Given the description of an element on the screen output the (x, y) to click on. 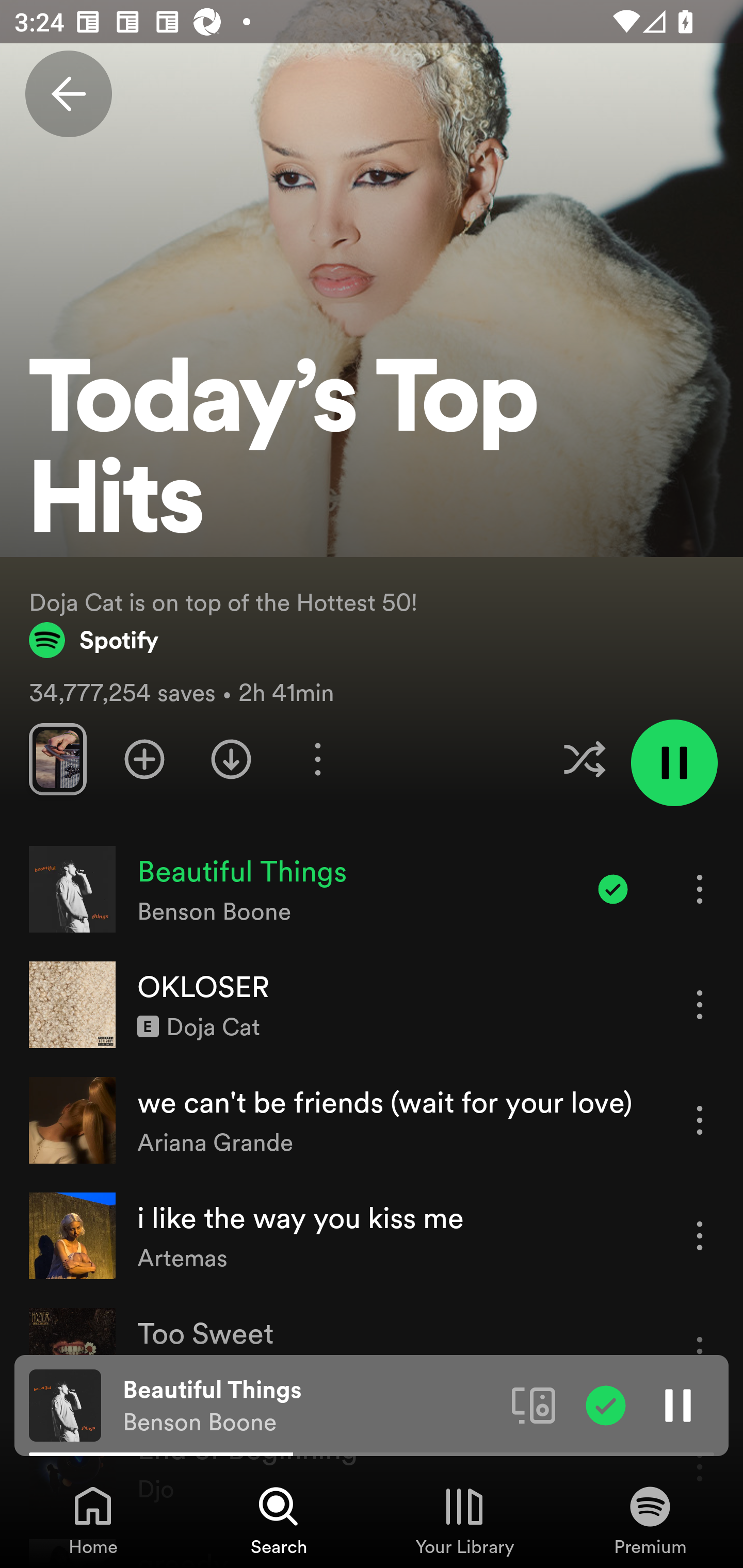
Back (68, 93)
Spotify (93, 640)
Swipe through previews of tracks in this playlist. (57, 759)
Add playlist to Your Library (144, 759)
Download (230, 759)
More options for playlist Today’s Top Hits (317, 759)
Enable shuffle for this playlist (583, 759)
Pause playlist (674, 762)
Item added (612, 888)
More options for song Beautiful Things (699, 888)
More options for song OKLOSER (699, 1004)
More options for song i like the way you kiss me (699, 1236)
Too Sweet Hozier More options for song Too Sweet (371, 1351)
Beautiful Things Benson Boone (309, 1405)
